Given the description of an element on the screen output the (x, y) to click on. 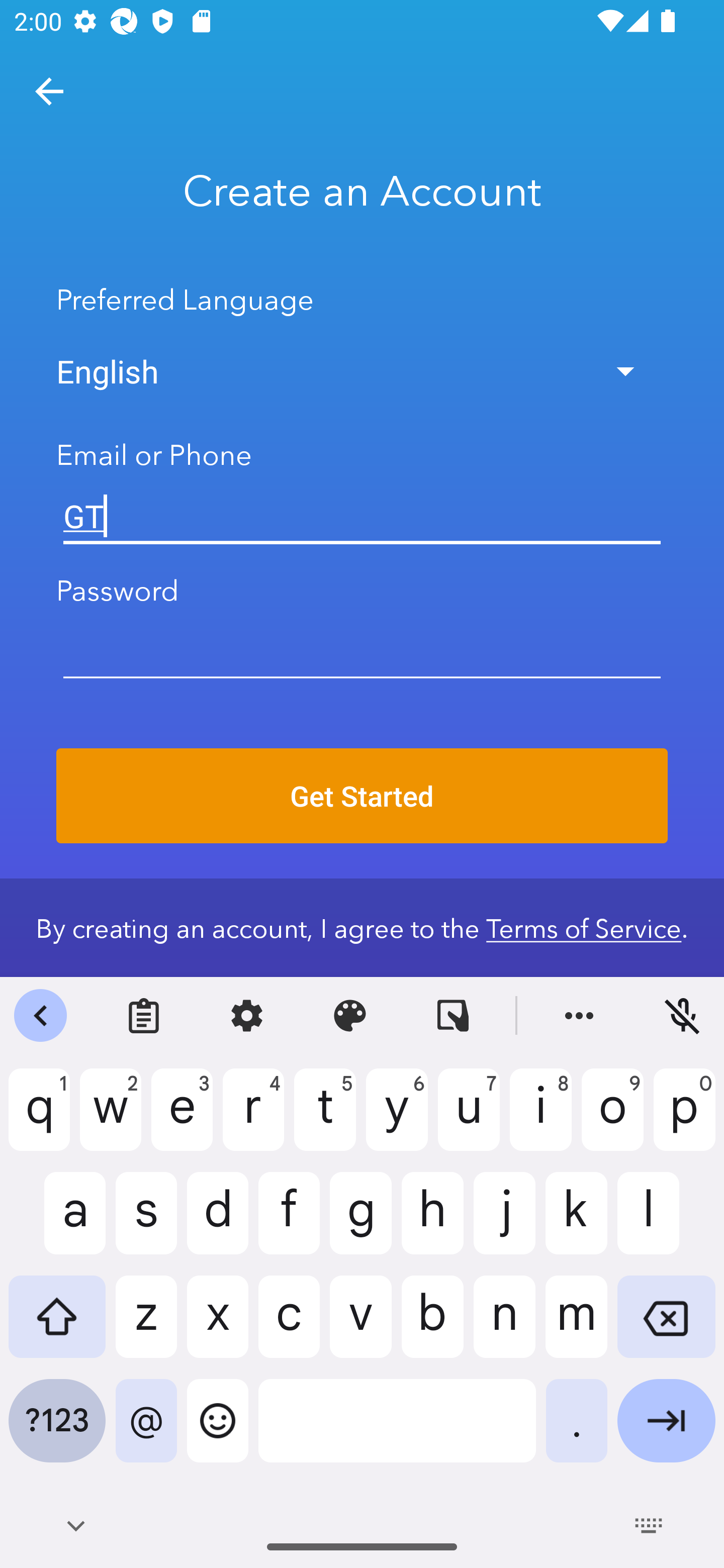
Navigate up (49, 91)
English (361, 370)
GT (361, 516)
Get Started (361, 795)
